Given the description of an element on the screen output the (x, y) to click on. 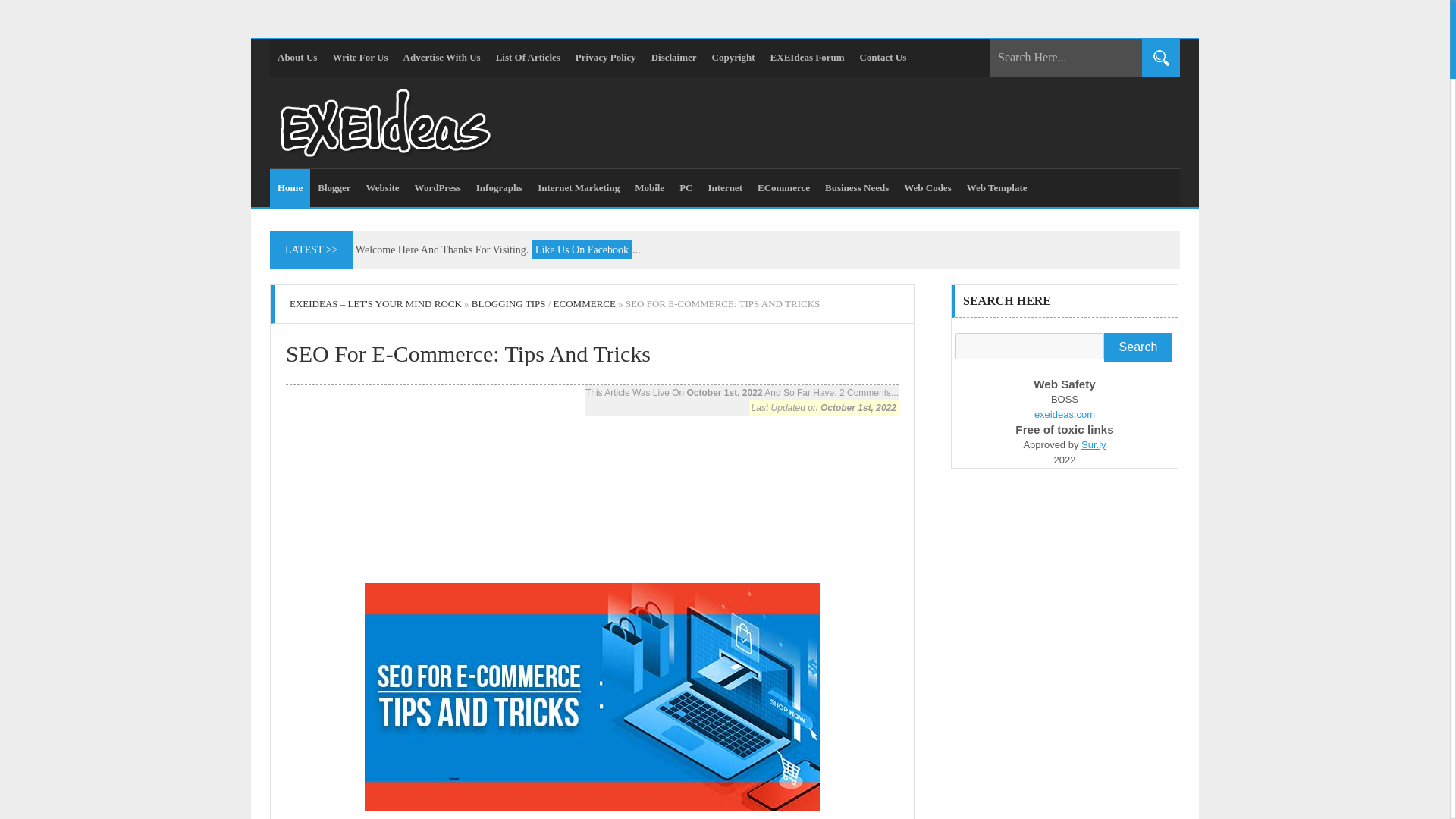
Home (289, 187)
ECommerce (782, 187)
Website (382, 187)
About Us (296, 57)
Privacy Policy (605, 57)
Advertise With Us (441, 57)
Copyright (733, 57)
Internet (724, 187)
Write For Us (359, 57)
EXEIdeas Forum (806, 57)
Mobile (649, 187)
Business Needs (856, 187)
Infographs (498, 187)
BLOGGING TIPS (508, 303)
List Of Articles (527, 57)
